Given the description of an element on the screen output the (x, y) to click on. 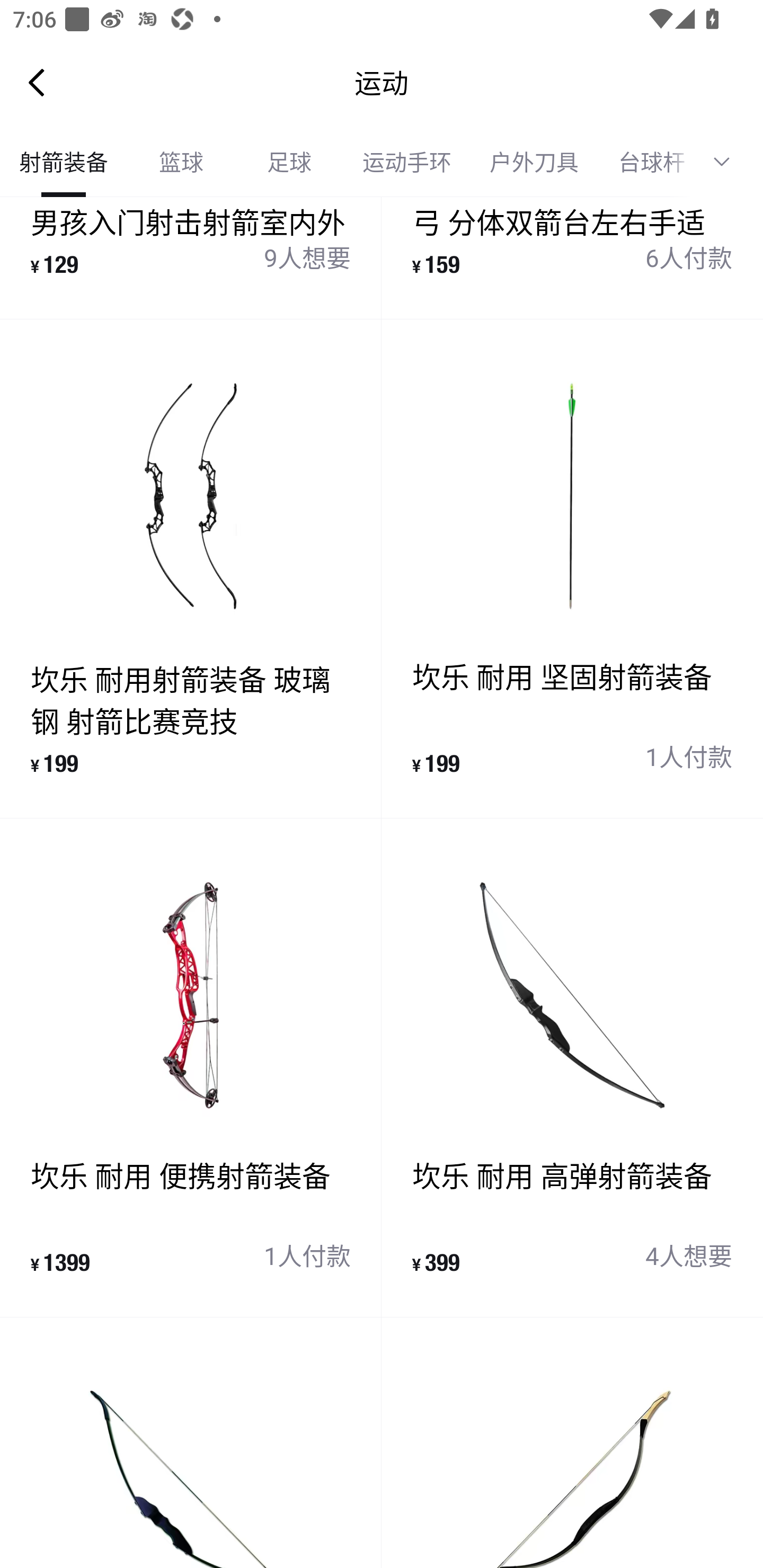
Navigate up (36, 82)
射箭装备 (63, 162)
篮球 (181, 162)
足球 (289, 162)
运动手环 (406, 162)
户外刀具 (533, 162)
台球杆 (644, 162)
 (727, 162)
名舰 儿童弓箭玩具套装
男孩入门射击射箭室内外
吸盘家用户外运动弓箭射
箭装备 ¥ 129 9人想要 (190, 257)
坎乐 耐用射箭装备 玻璃
钢 射箭比赛竞技 ¥ 199 (190, 568)
坎乐 耐用 坚固射箭装备 ¥ 199 1人付款 (572, 568)
坎乐 耐用 便携射箭装备 ¥ 1399 1人付款 (190, 1067)
坎乐 耐用 高弹射箭装备 ¥ 399 4人想要 (572, 1067)
